Given the description of an element on the screen output the (x, y) to click on. 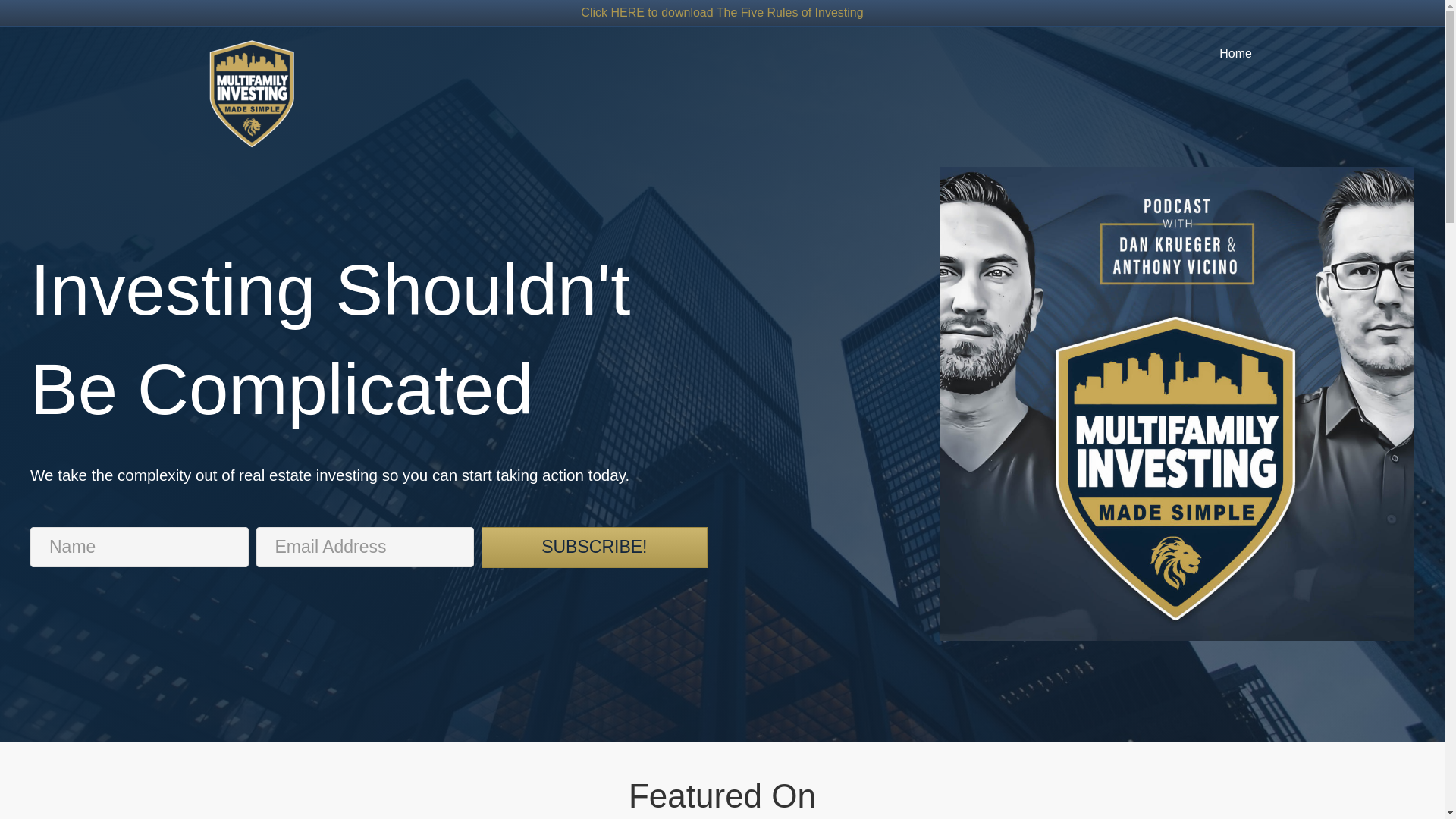
SUBSCRIBE! (594, 547)
Home (1235, 53)
Click HERE to download The Five Rules of Investing (721, 11)
multifamily investing made simple logo (250, 93)
